Given the description of an element on the screen output the (x, y) to click on. 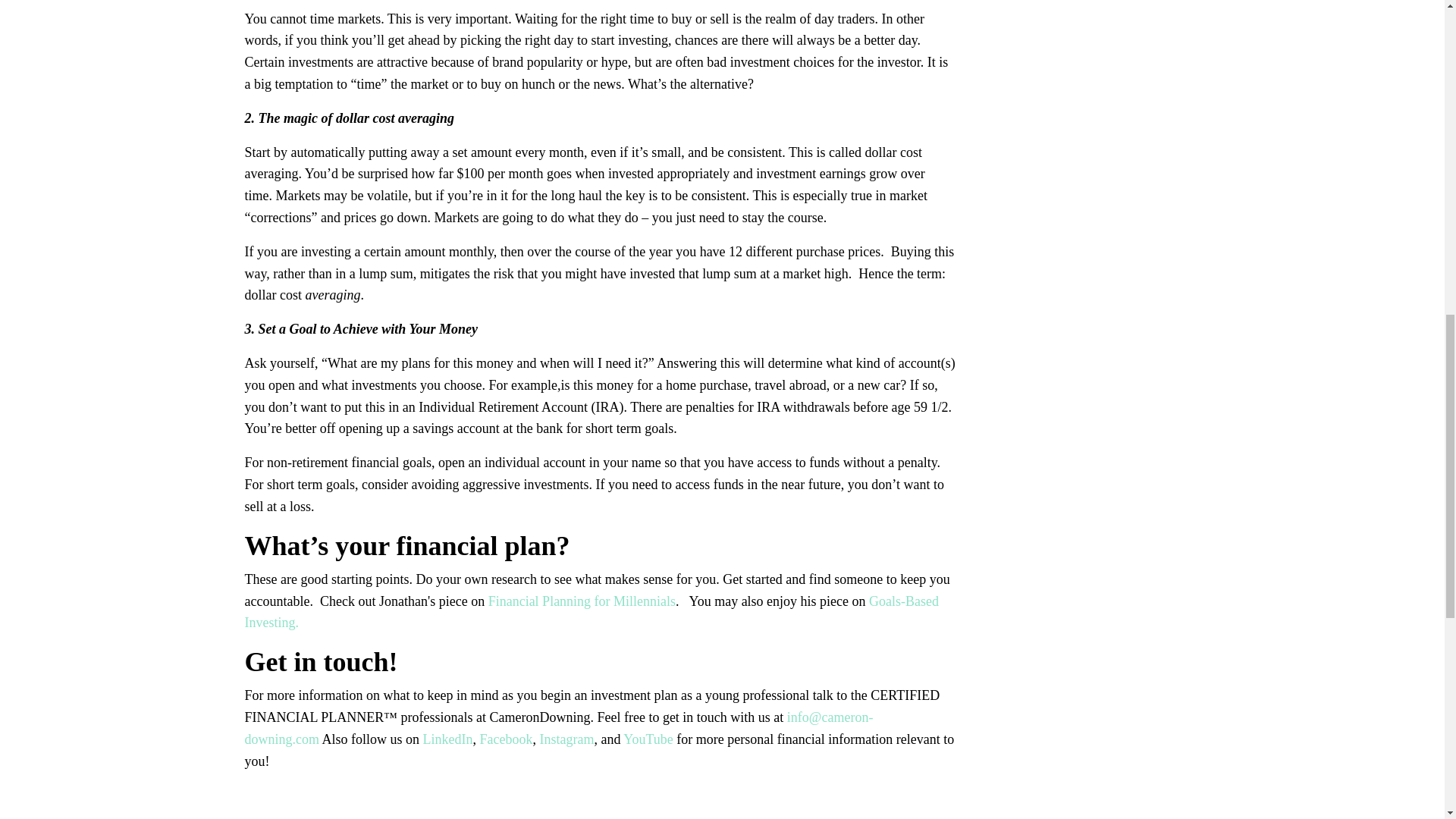
Financial Planning for Millennials (581, 601)
Goals-Based Investing. (591, 611)
YouTube  (650, 739)
Facebook (505, 739)
Instagram (566, 739)
LinkedIn (448, 739)
